Given the description of an element on the screen output the (x, y) to click on. 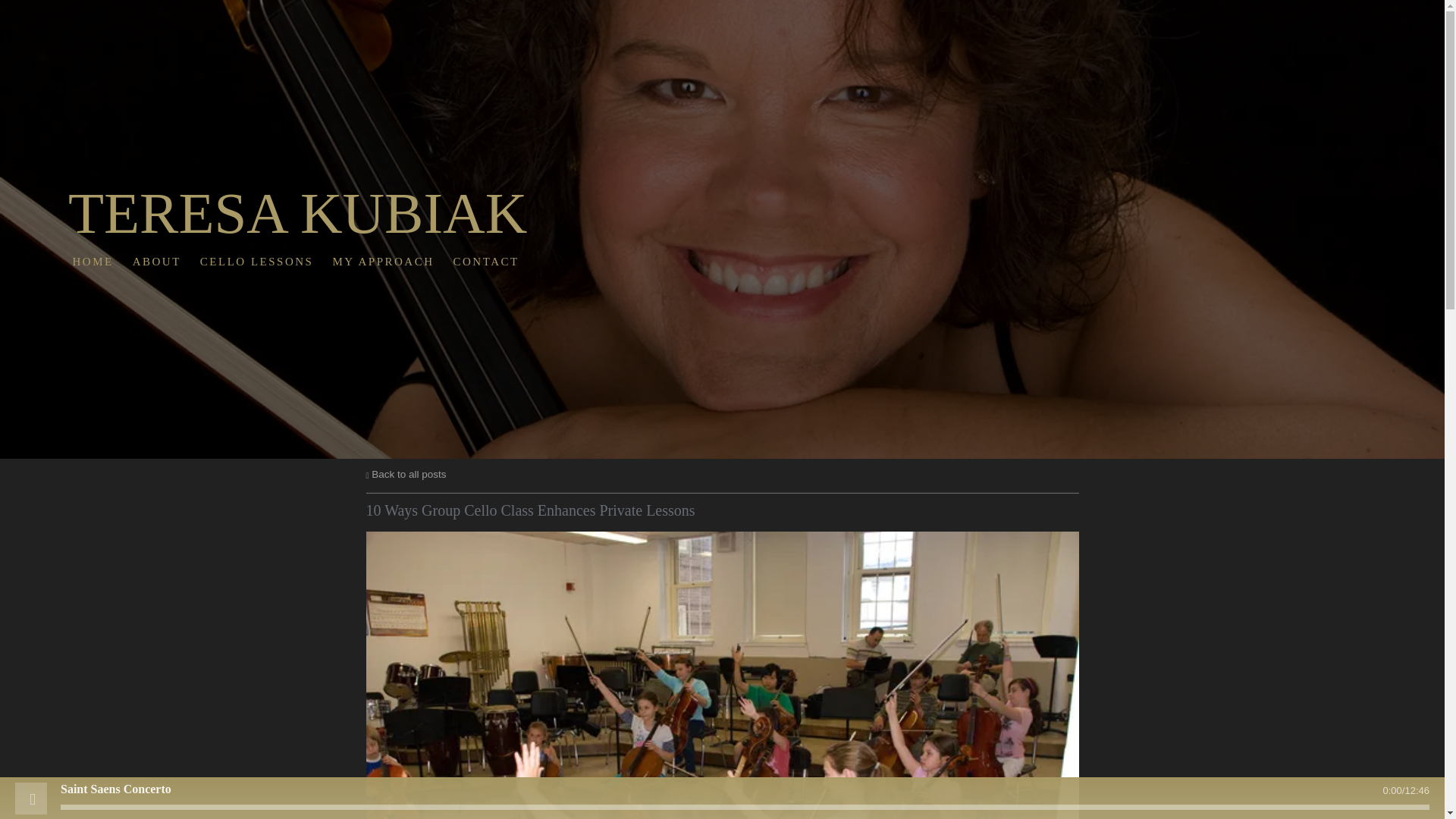
Back to all posts (405, 473)
CONTACT (485, 261)
ABOUT (156, 261)
HOME (92, 261)
CELLO LESSONS (255, 261)
MY APPROACH (382, 261)
TERESA KUBIAK (297, 225)
